Given the description of an element on the screen output the (x, y) to click on. 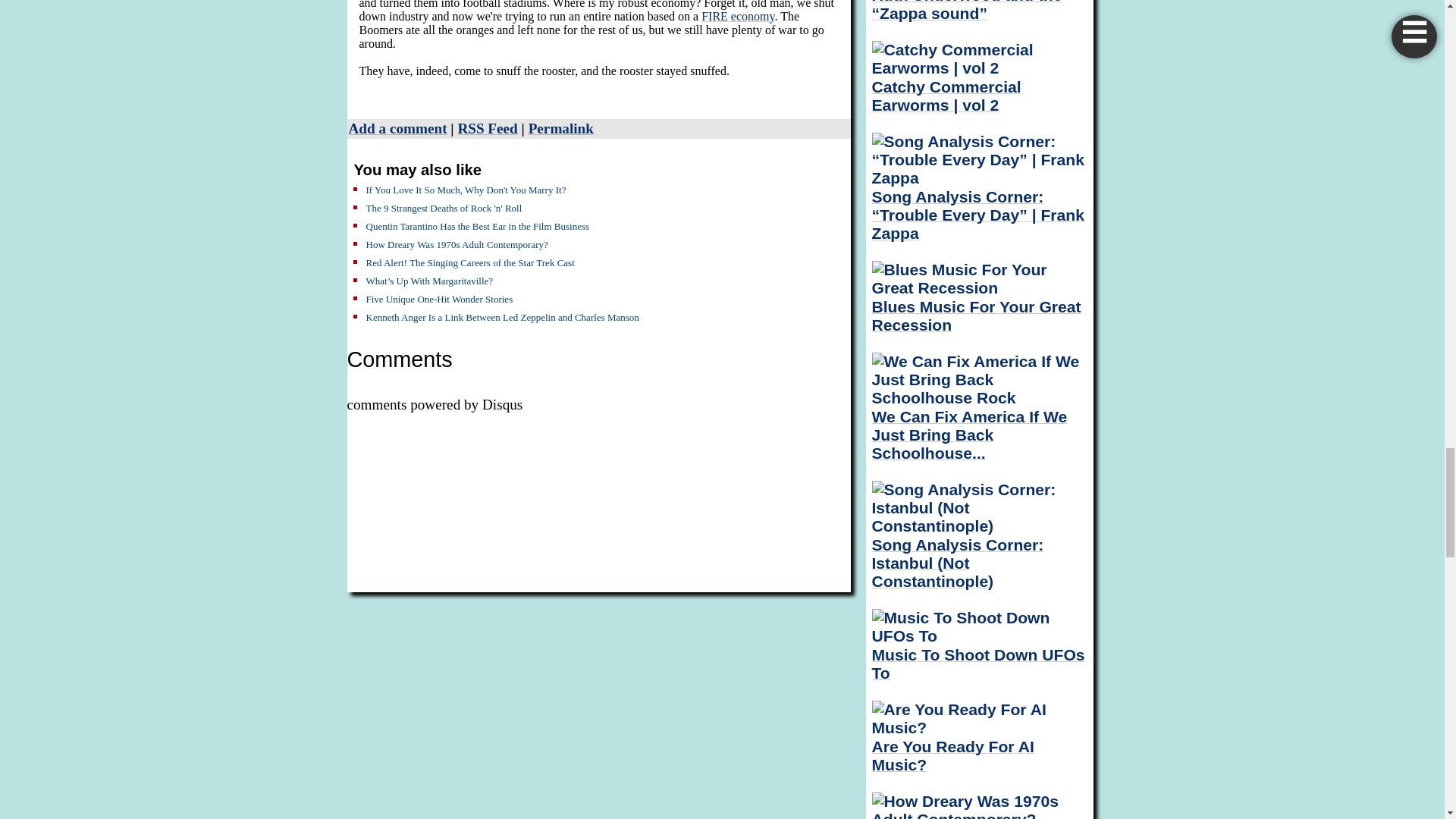
If You Love It So Much, Why Don't You Marry It? (465, 189)
Add a comment (397, 128)
Five Unique One-Hit Wonder Stories (438, 298)
Red Alert! The Singing Careers of the Star Trek Cast (469, 262)
Permalink (561, 128)
FIRE economy (737, 15)
The 9 Strangest Deaths of Rock 'n' Roll (443, 207)
RSS Feed (486, 128)
Quentin Tarantino Has the Best Ear in the Film Business (477, 225)
